Given the description of an element on the screen output the (x, y) to click on. 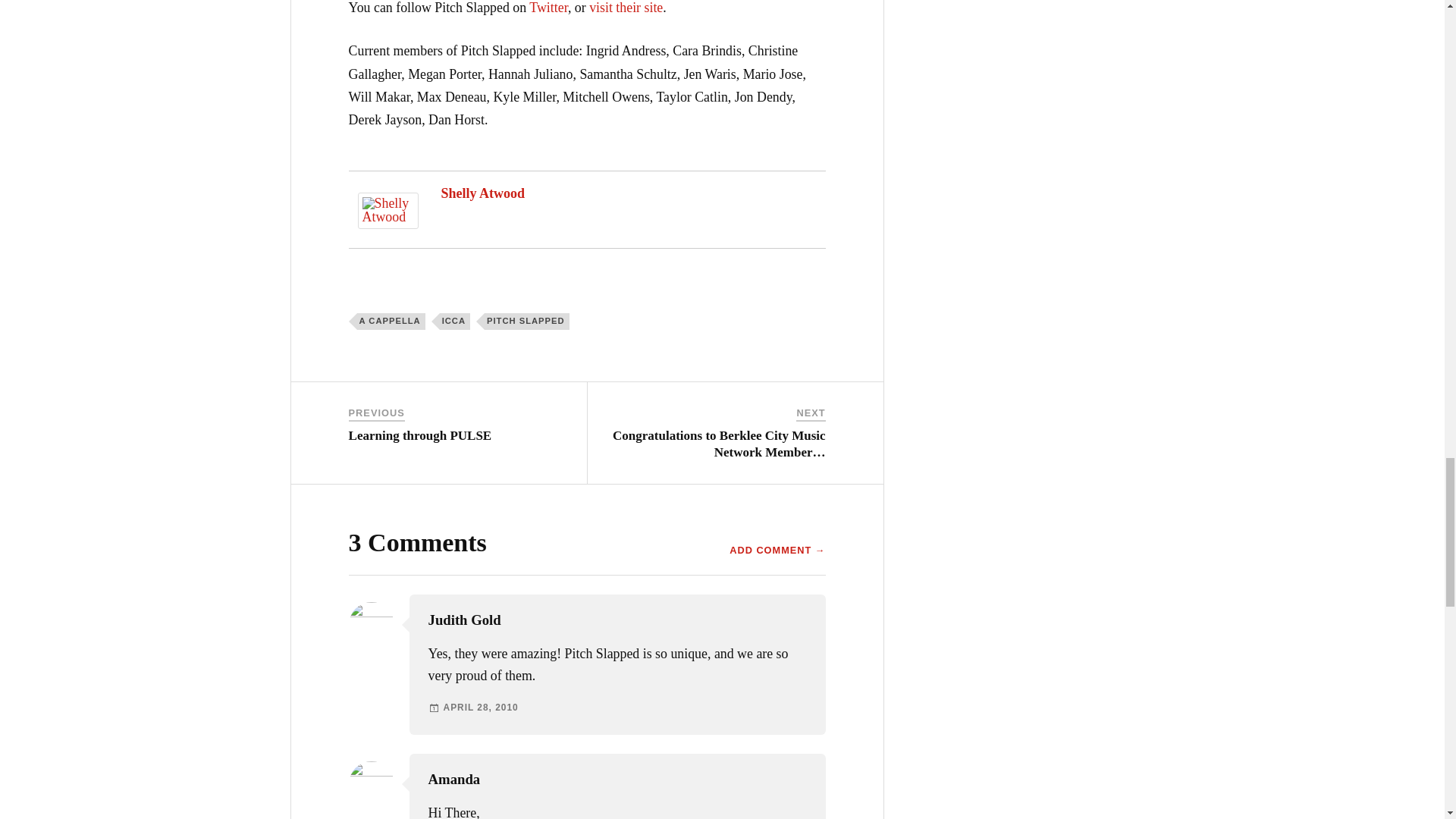
PITCH SLAPPED (526, 321)
APRIL 28, 2010 (481, 706)
Previous post: Learning through PULSE (420, 435)
visit their site (625, 7)
ICCA (454, 321)
Shelly Atwood (388, 224)
Learning through PULSE (420, 435)
Twitter (548, 7)
Shelly Atwood (483, 192)
April 28, 2010 at 5:01 pm (481, 706)
